Given the description of an element on the screen output the (x, y) to click on. 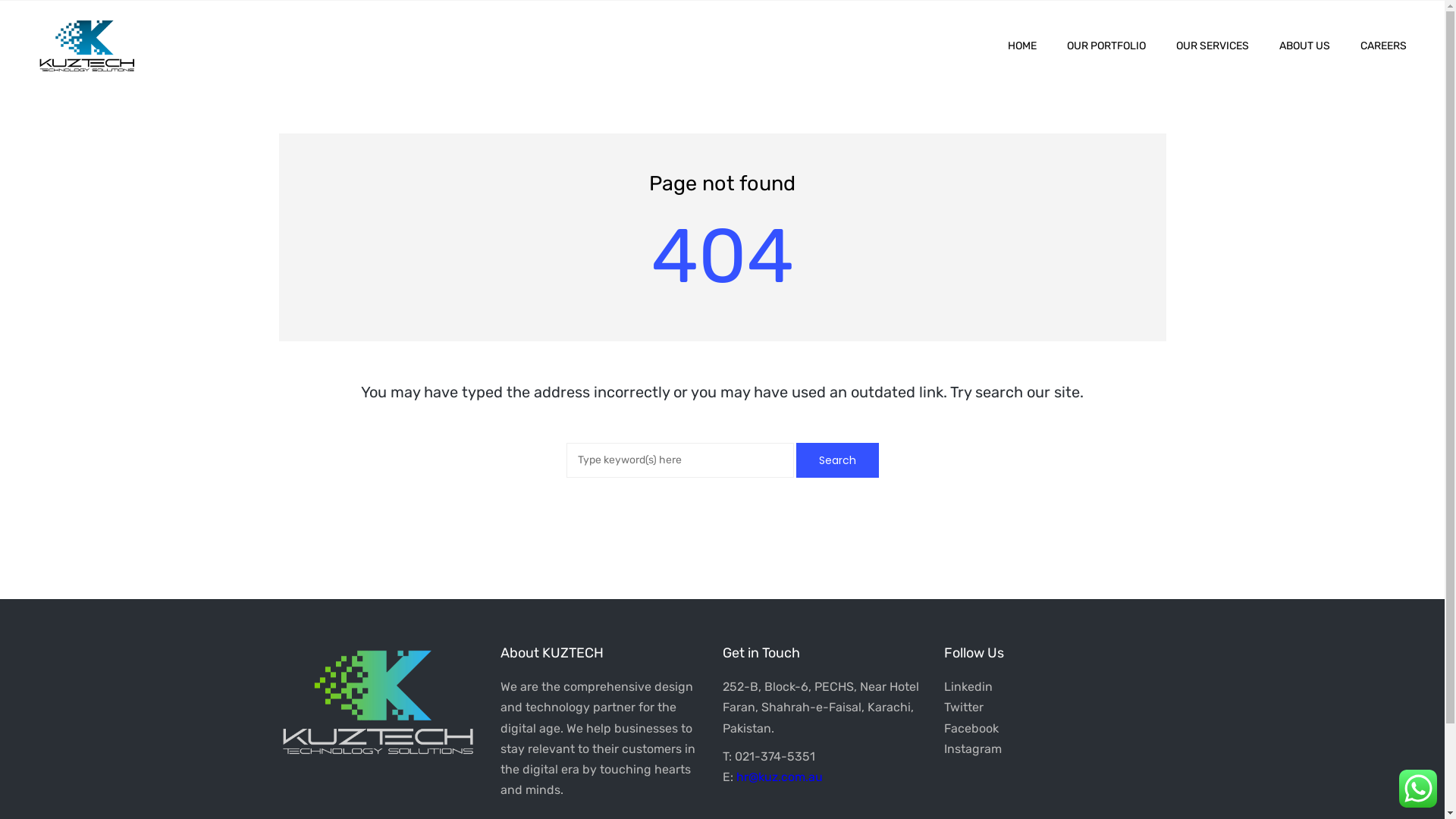
OUR PORTFOLIO Element type: text (1106, 46)
Facebook Element type: text (971, 728)
Twitter Element type: text (963, 706)
hr@kuz.com.au Element type: text (778, 776)
Search Element type: text (837, 459)
Instagram Element type: text (972, 748)
OUR SERVICES Element type: text (1212, 46)
CAREERS Element type: text (1375, 46)
Linkedin Element type: text (968, 686)
ABOUT US Element type: text (1304, 46)
HOME Element type: text (1021, 46)
